Given the description of an element on the screen output the (x, y) to click on. 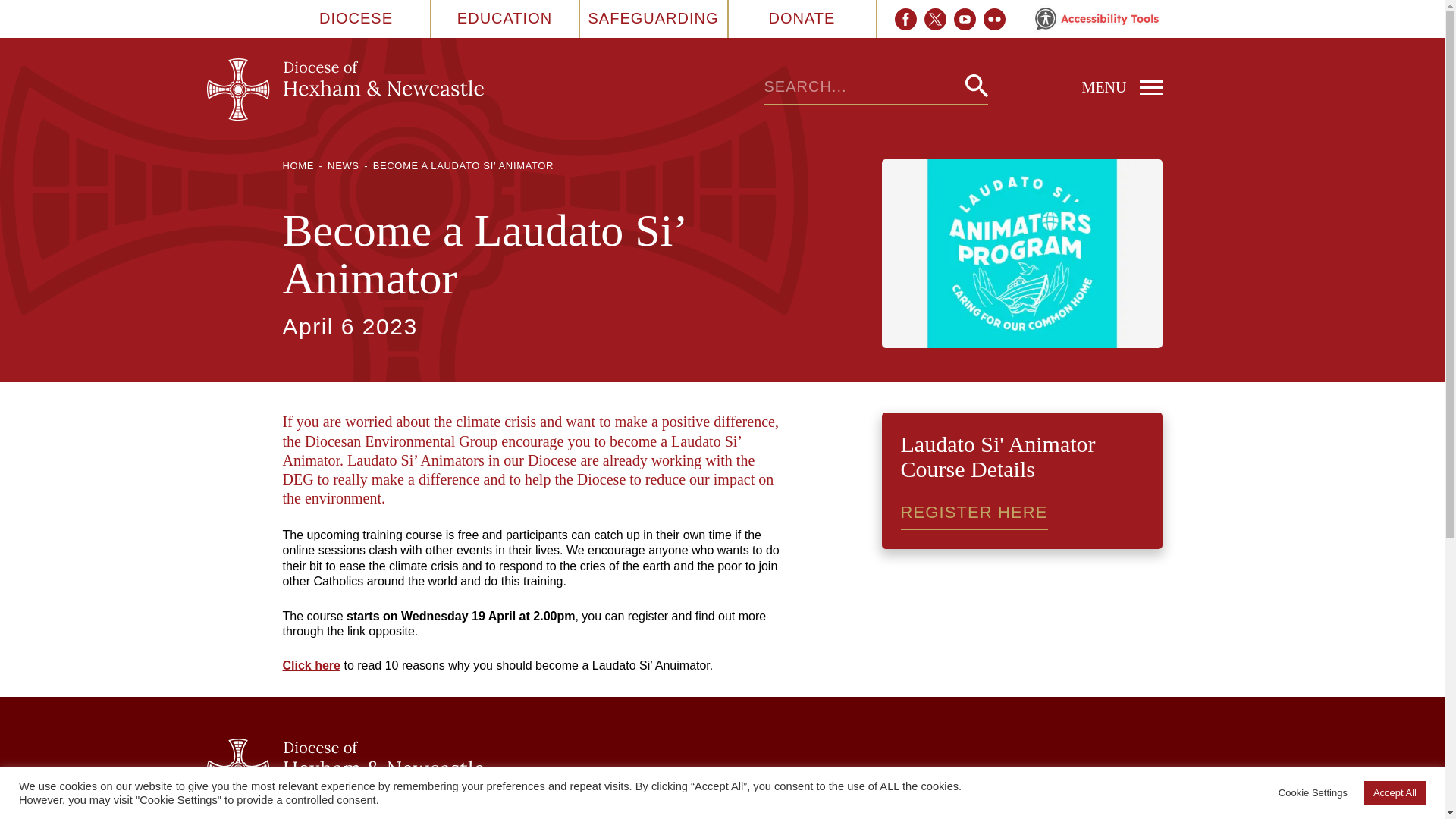
SAFEGUARDING (652, 18)
DIOCESE (355, 18)
EDUCATION (504, 18)
MENU (1074, 86)
Go to News. (343, 165)
DONATE (801, 18)
